Given the description of an element on the screen output the (x, y) to click on. 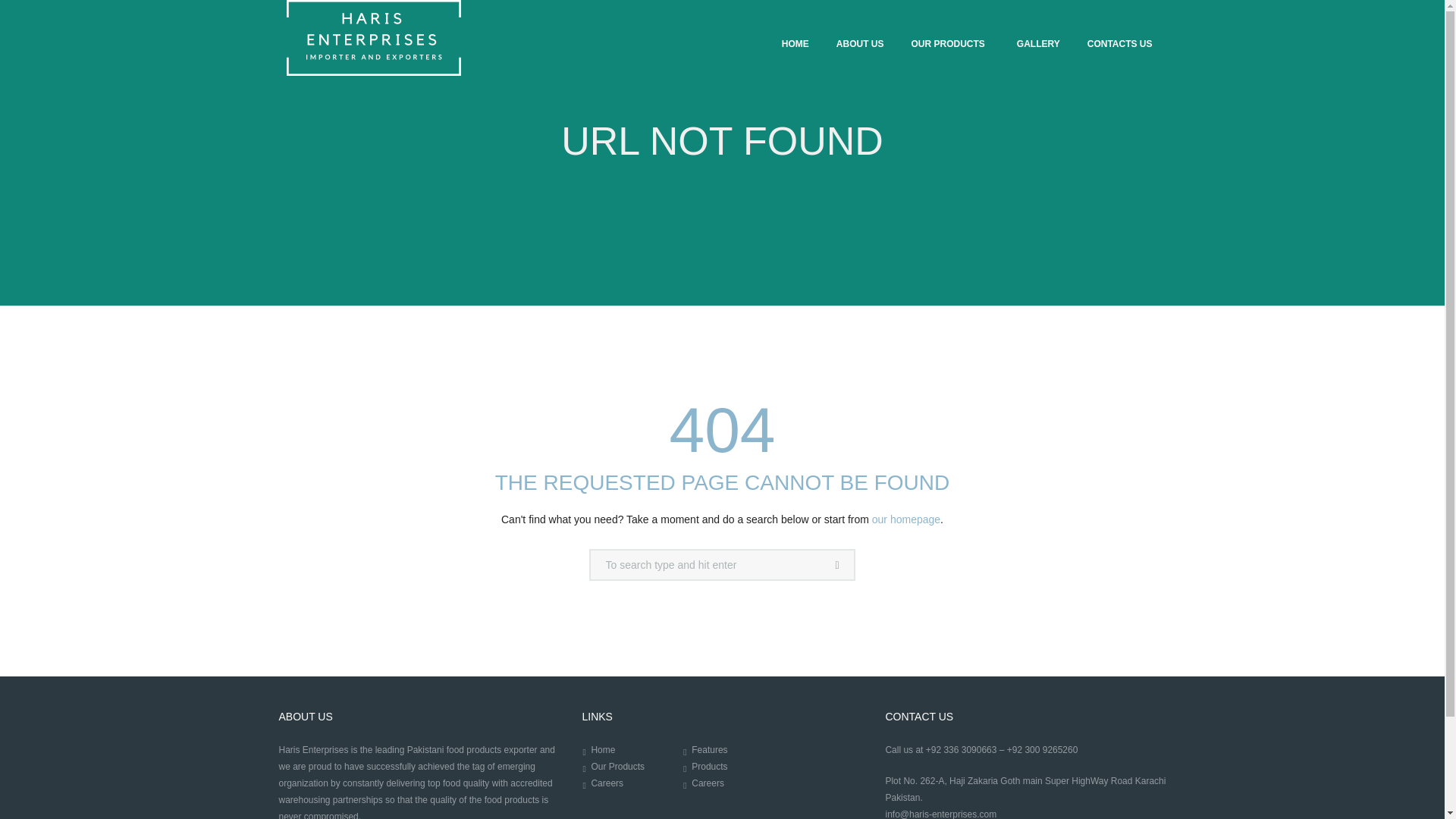
Start search (839, 564)
CONTACTS US (1120, 45)
Careers (607, 783)
our homepage (906, 519)
ABOUT US (860, 45)
Careers (707, 783)
GALLERY (1038, 45)
Our Products (618, 766)
Features (708, 749)
Products (708, 766)
